Given the description of an element on the screen output the (x, y) to click on. 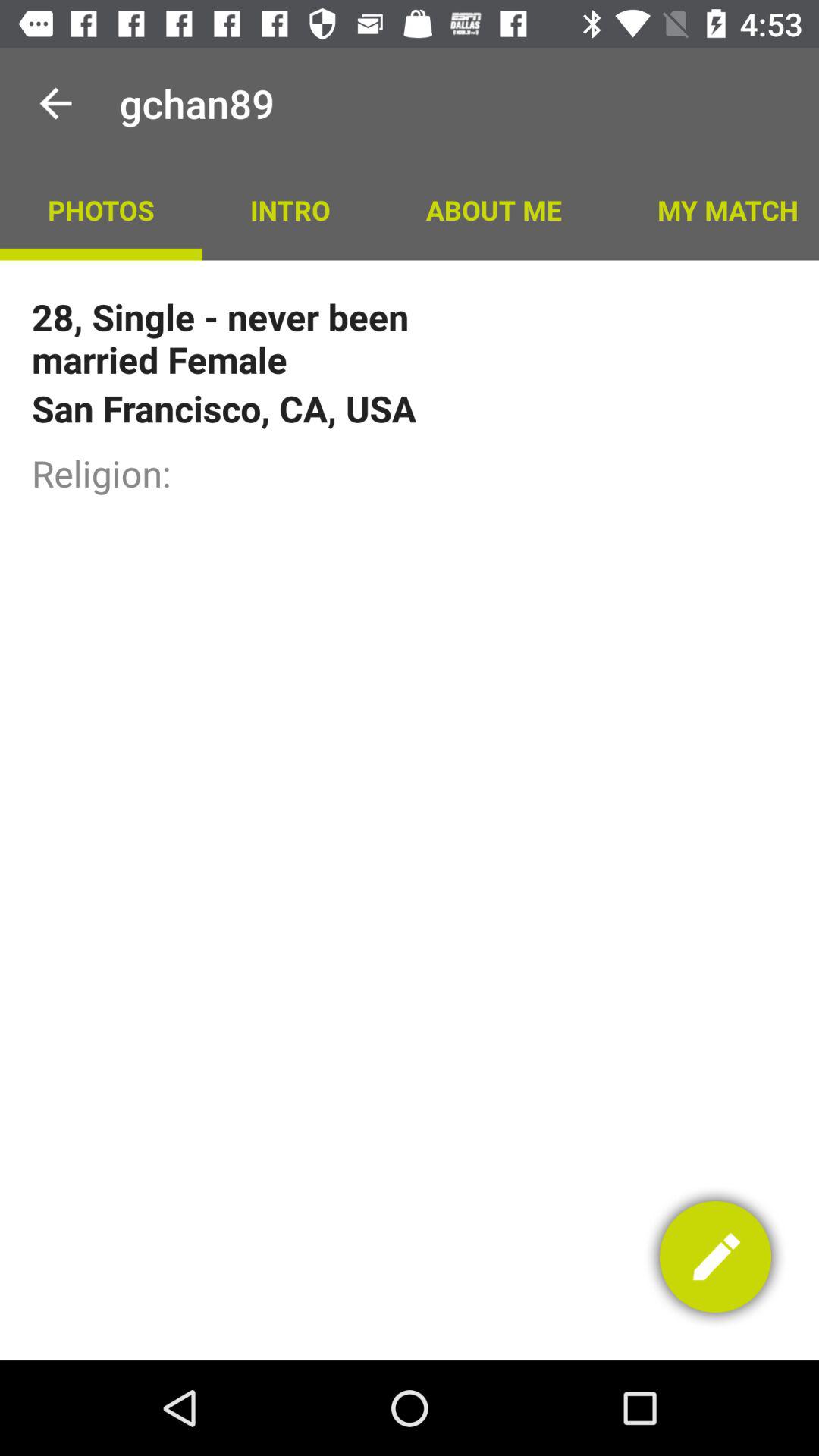
turn on item next to the gchan89 item (55, 103)
